Given the description of an element on the screen output the (x, y) to click on. 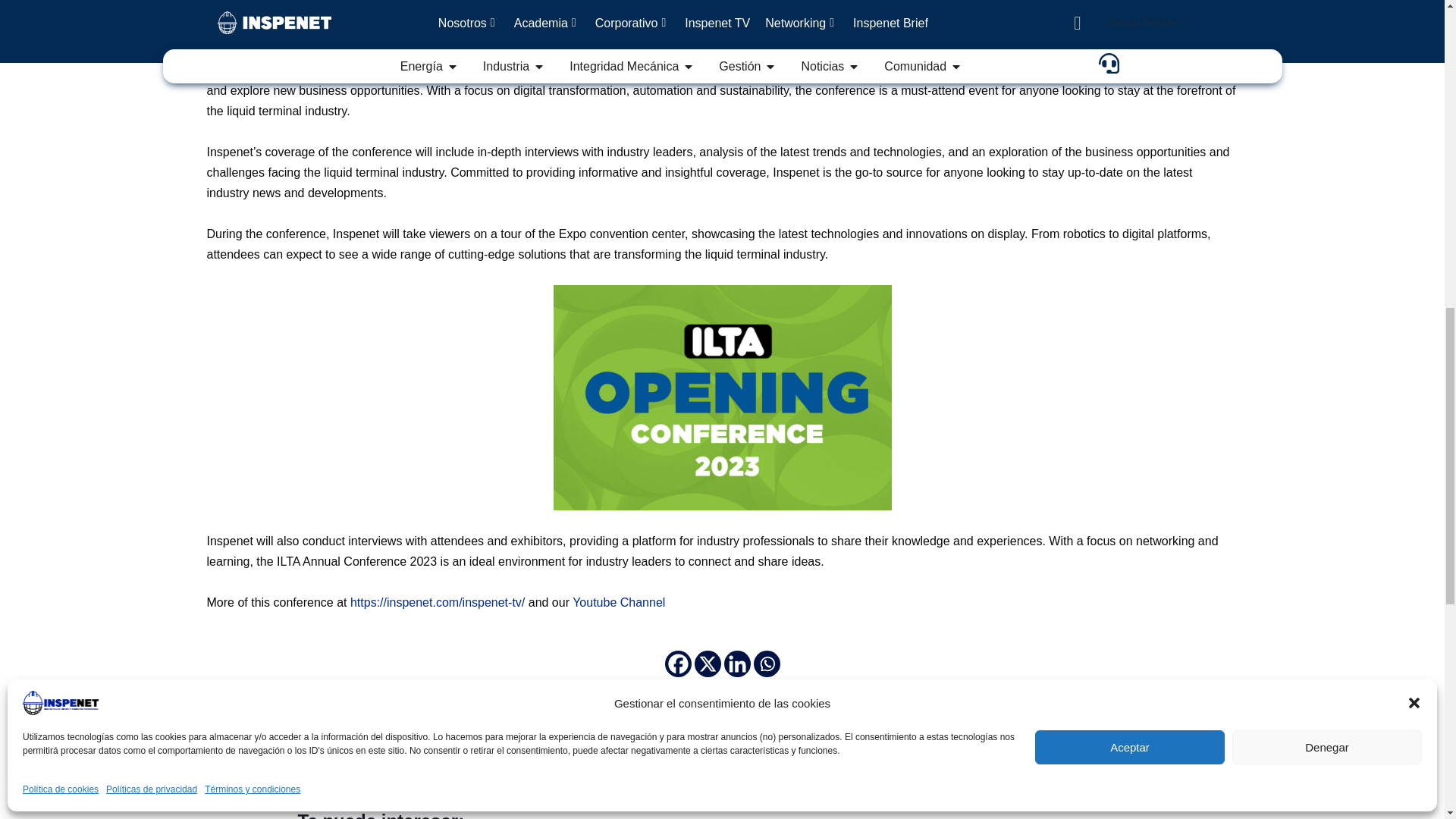
5 estrellas (247, 779)
2 estrellas (219, 779)
Facebook (676, 663)
Linkedin (736, 663)
4 estrellas (237, 779)
X (707, 663)
Whatsapp (767, 663)
1 estrella (210, 779)
3 estrellas (228, 779)
